Given the description of an element on the screen output the (x, y) to click on. 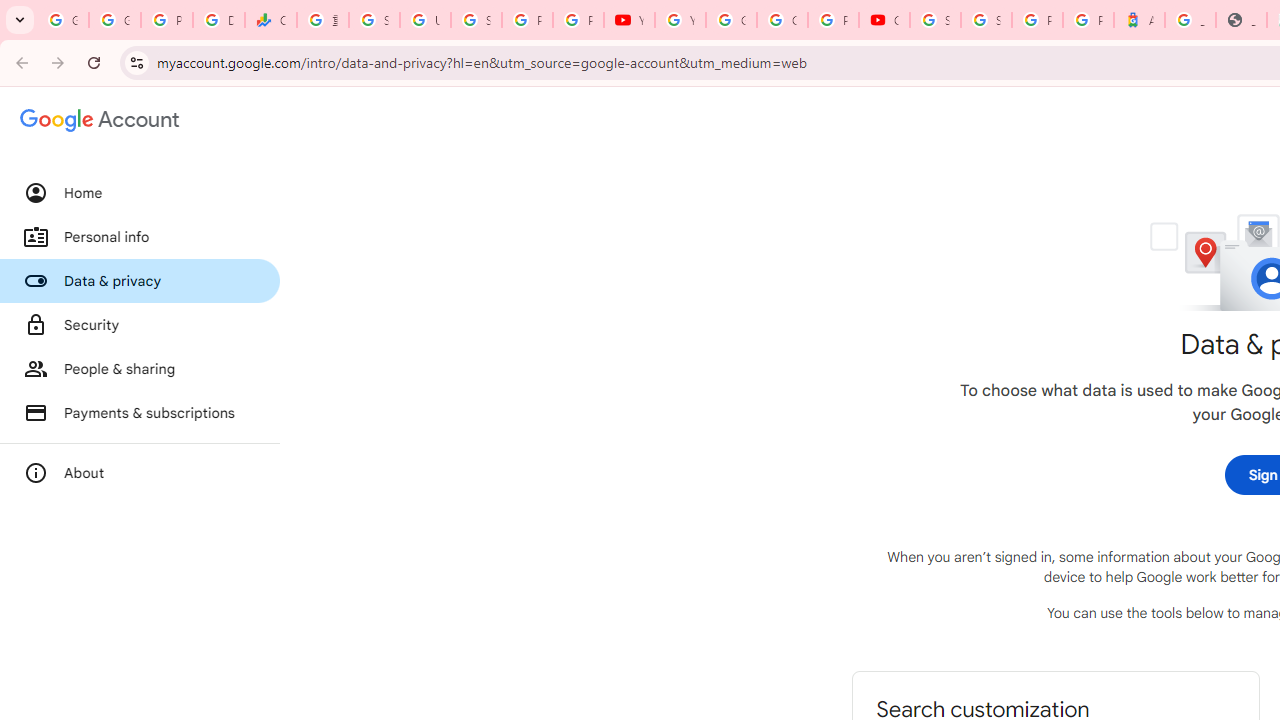
Atour Hotel - Google hotels (1138, 20)
Sign in - Google Accounts (986, 20)
Content Creator Programs & Opportunities - YouTube Creators (884, 20)
Security (140, 325)
YouTube (680, 20)
